Given the description of an element on the screen output the (x, y) to click on. 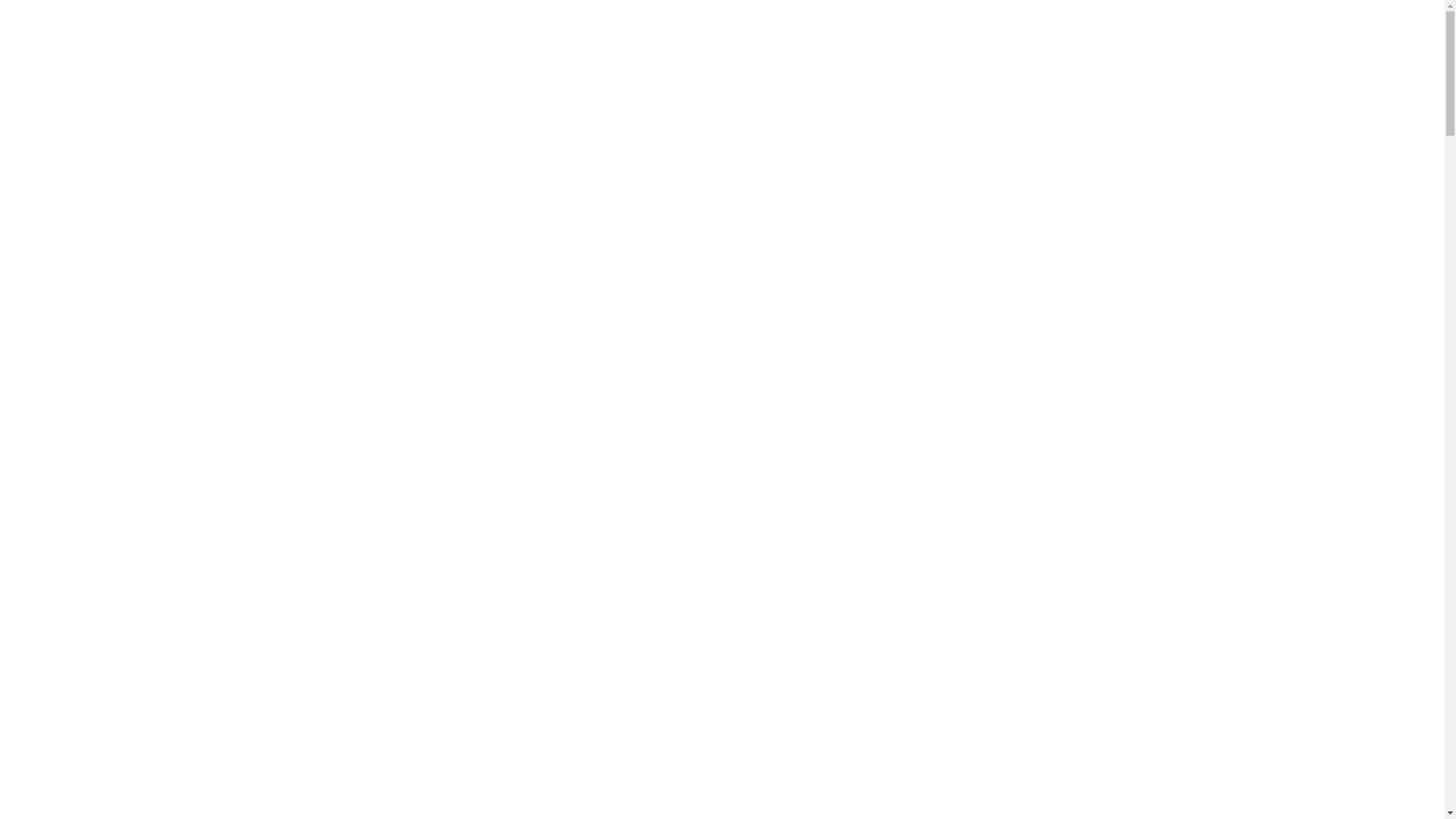
ACCUEIL Element type: text (327, 146)
TVAC Element type: text (142, 9)
Ligne Contour Eternum Element type: text (187, 488)
Couverts de service Element type: text (167, 712)
INSPIRATION Element type: text (424, 146)
S'enregistrer Element type: text (1349, 16)
Petite fourchette entremets Eternum (PEFOU) Element type: text (1281, 401)
HTVA Element type: text (181, 9)
Grande fourchette Eternum (FOURC) Element type: text (609, 401)
Ajouter Element type: text (834, 695)
Ligne Guy Degrenne Element type: text (187, 534)
Ajouter Element type: text (610, 695)
Ajouter Element type: text (1058, 695)
Location Element type: text (1187, 237)
Argenterie Element type: text (167, 684)
NOS LOCATIONS Element type: text (178, 146)
Couverts divers Element type: text (187, 602)
Ajouter Element type: text (834, 503)
Ligne Baguette Element type: text (187, 511)
Ajouter Element type: text (1281, 695)
Ajouter Element type: text (610, 503)
Ajouter Element type: text (387, 503)
Ligne Madrid Element type: text (187, 579)
Couverts en inox Element type: text (167, 466)
QUI SOMMES NOUS Element type: text (644, 146)
Ligne XY Guy Degrenne Element type: text (187, 557)
Petit couteau entremets Eternum (PECOU) Element type: text (1057, 401)
Ajouter Element type: text (387, 695)
Se connecter Element type: text (1264, 16)
CONTACT Element type: text (524, 146)
Ajouter Element type: text (1281, 503)
Grand couteau Eternum (COUTE) Element type: text (386, 401)
Ajouter Element type: text (1058, 503)
